Given the description of an element on the screen output the (x, y) to click on. 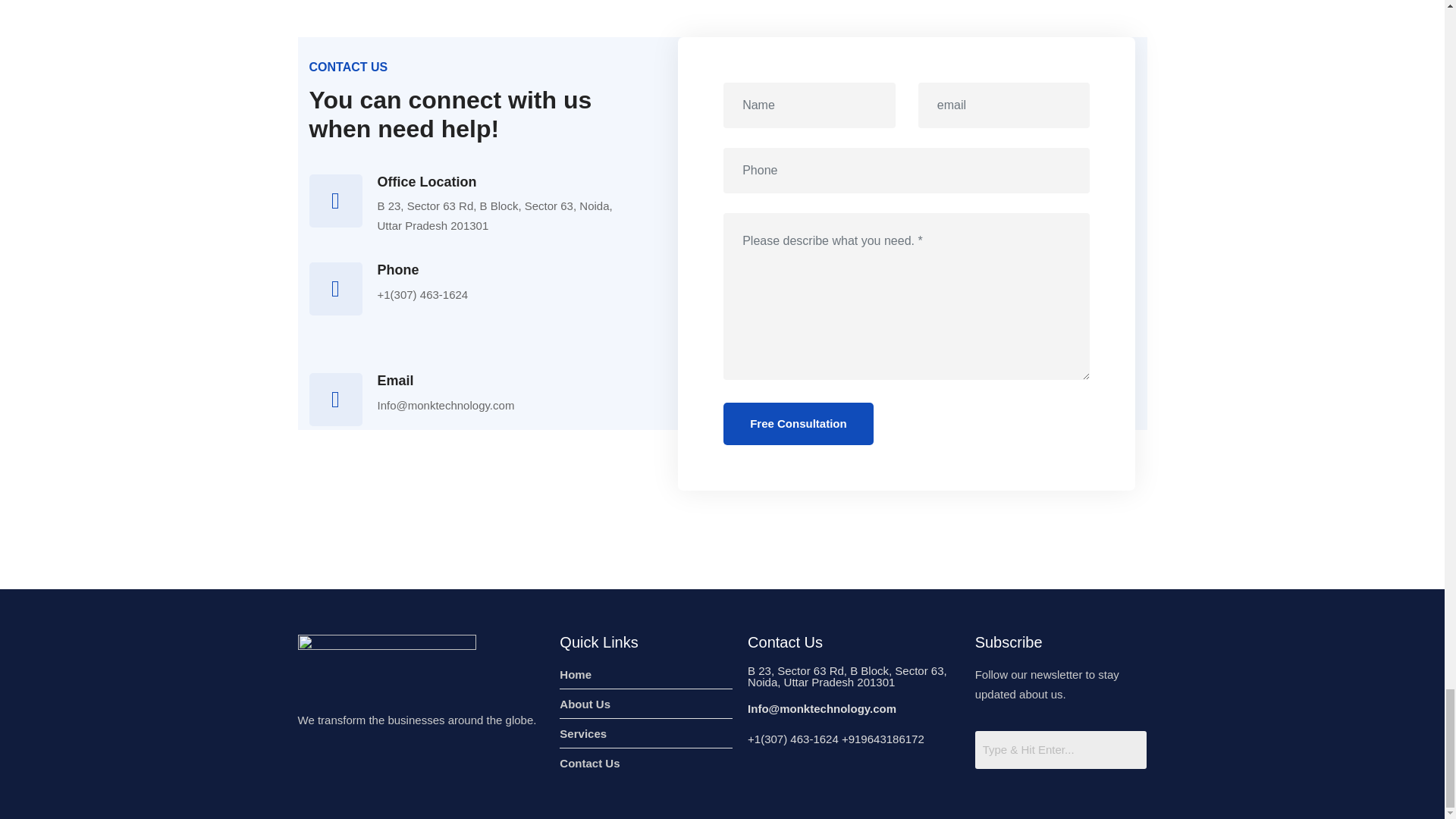
Search (1061, 750)
